Given the description of an element on the screen output the (x, y) to click on. 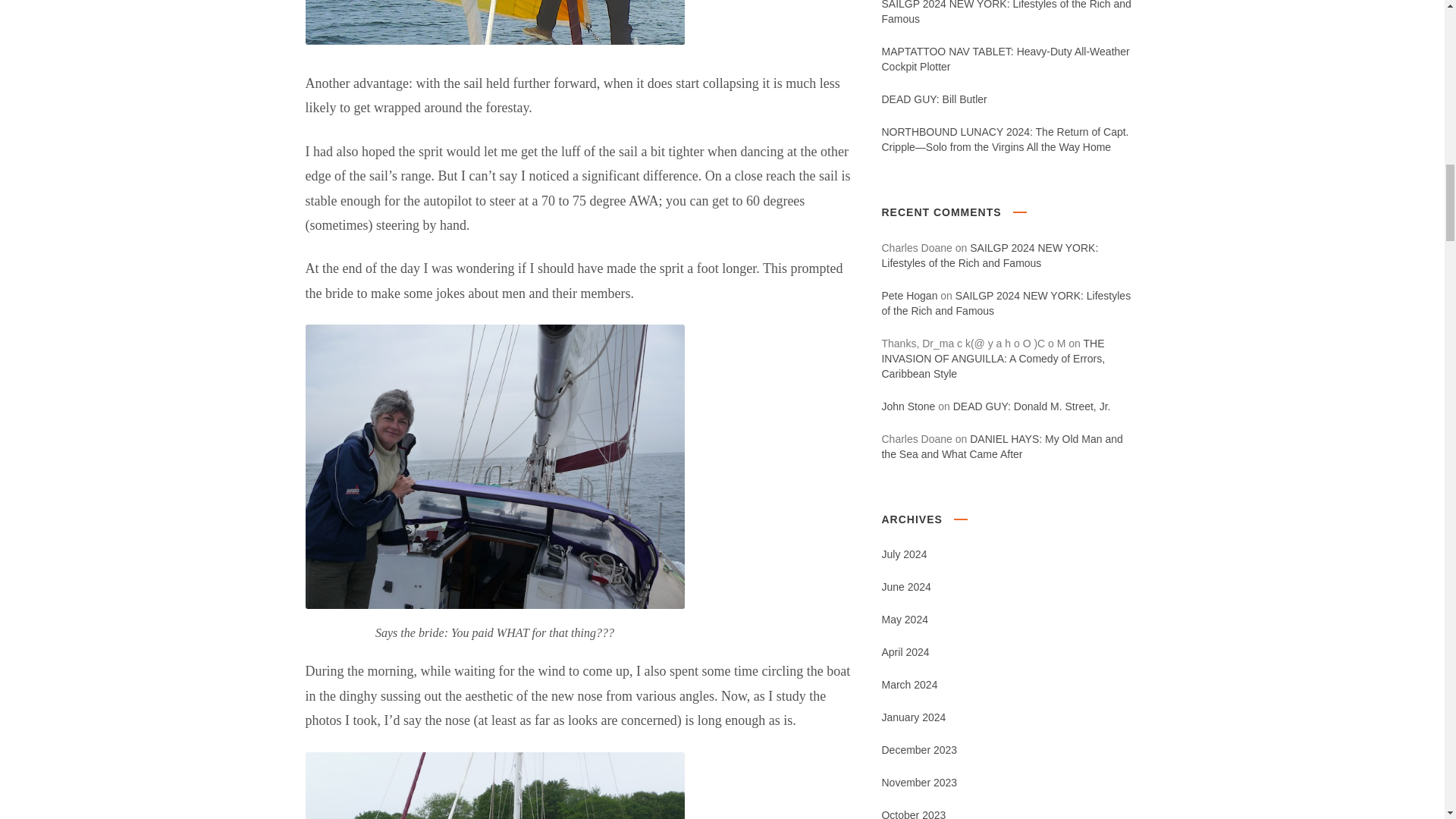
Says the bride: You paid WHAT for that thing??? (494, 466)
